Given the description of an element on the screen output the (x, y) to click on. 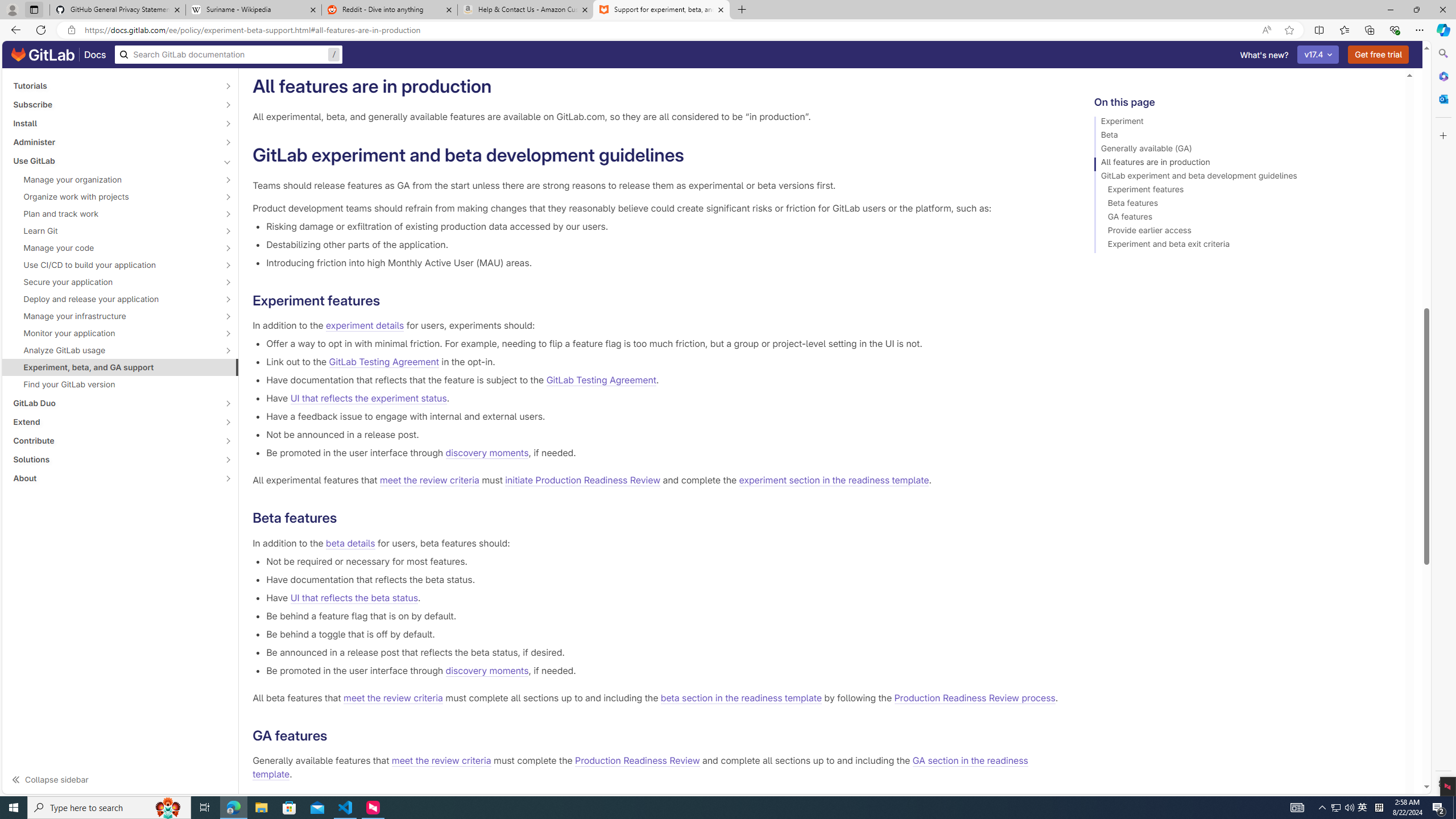
Production Readiness Review process (974, 697)
GitLab Duo (113, 402)
Not be required or necessary for most features. (662, 560)
Beta features (1244, 205)
v17.4 (1318, 54)
Be behind a toggle that is off by default. (662, 633)
What's new? (1263, 54)
Provide earlier access (1244, 232)
